Given the description of an element on the screen output the (x, y) to click on. 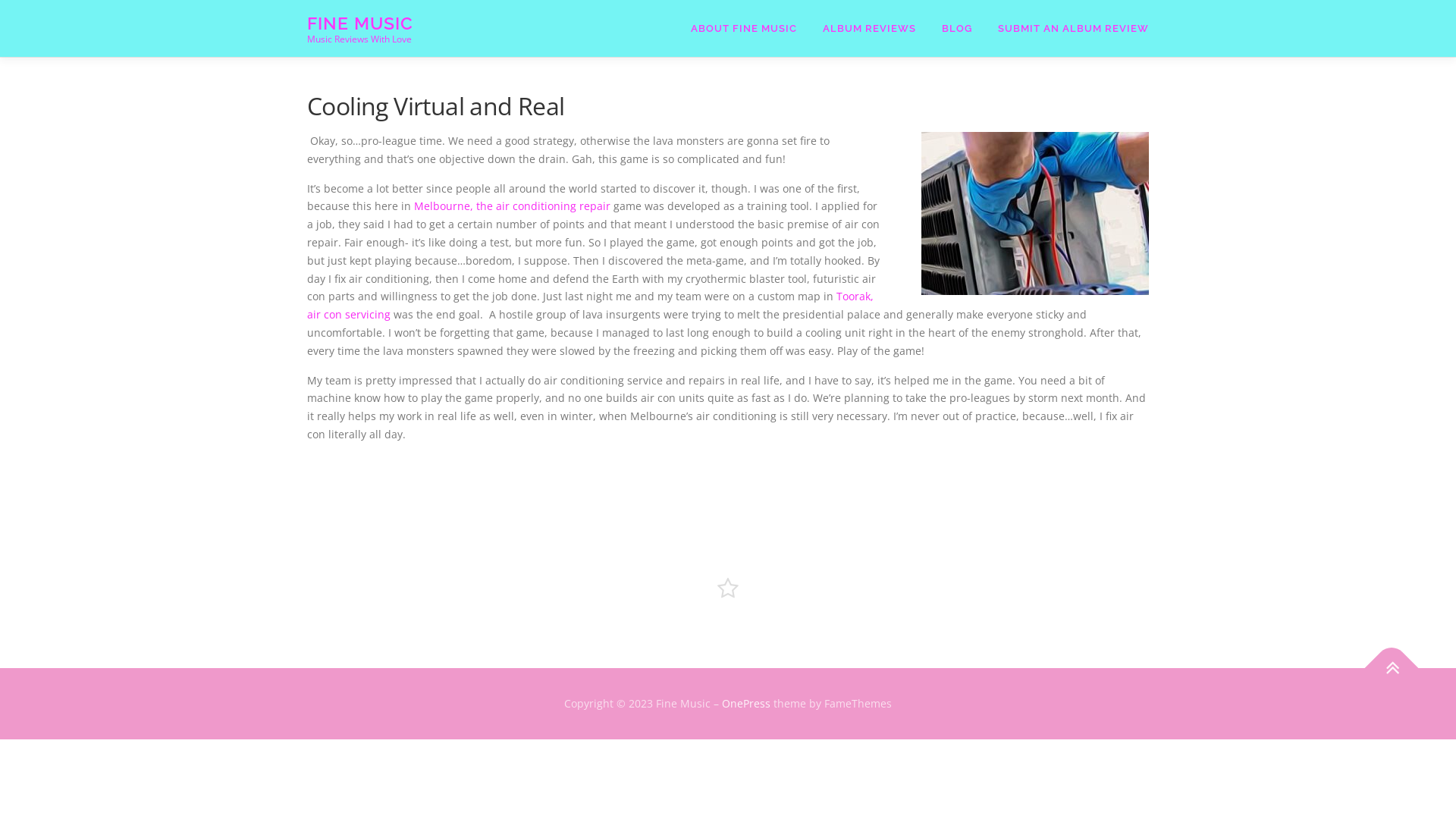
Toorak, air con servicing Element type: text (590, 304)
SUBMIT AN ALBUM REVIEW Element type: text (1066, 28)
Back To Top Element type: hover (1383, 659)
OnePress Element type: text (745, 703)
Skip to content Element type: text (37, 9)
Blog Element type: hover (727, 587)
ABOUT FINE MUSIC Element type: text (743, 28)
Melbourne, the air conditioning repair Element type: text (512, 205)
FINE MUSIC Element type: text (360, 22)
BLOG Element type: text (956, 28)
ALBUM REVIEWS Element type: text (868, 28)
